Given the description of an element on the screen output the (x, y) to click on. 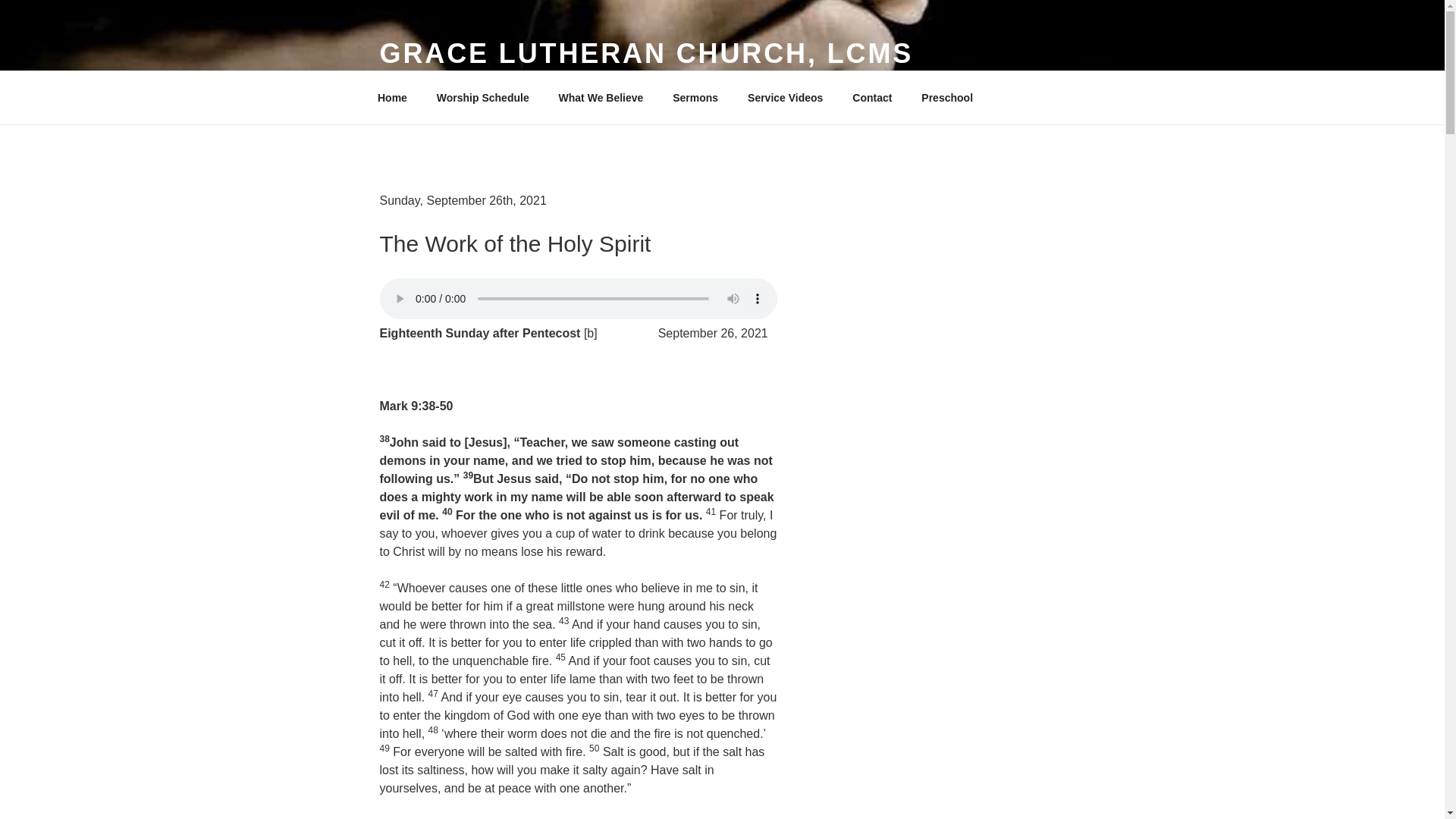
Service Videos (785, 97)
Home (392, 97)
Worship Schedule (482, 97)
Sermons (695, 97)
Contact (872, 97)
What We Believe (600, 97)
GRACE LUTHERAN CHURCH, LCMS (645, 52)
Preschool (947, 97)
